Given the description of an element on the screen output the (x, y) to click on. 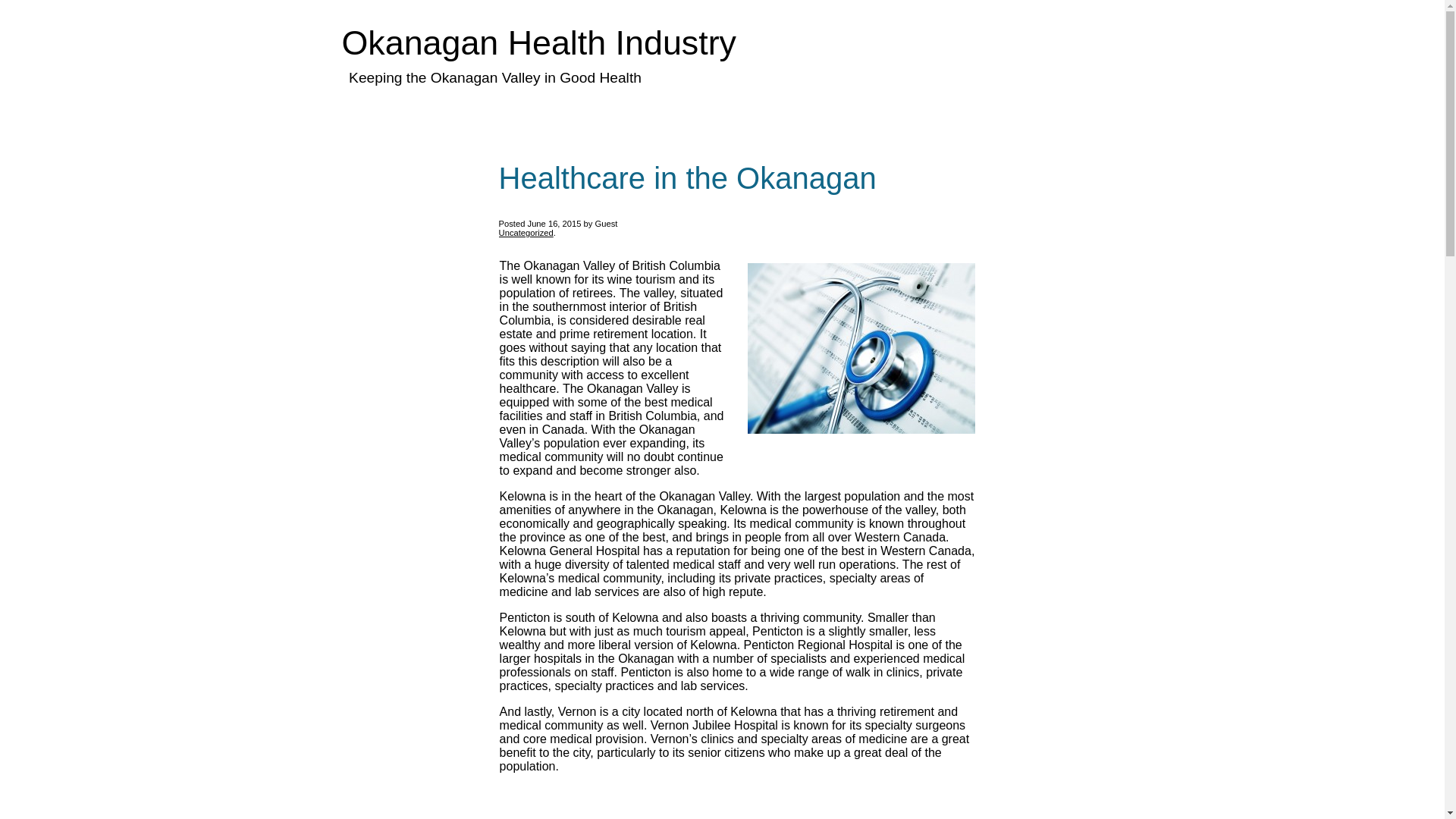
Uncategorized (526, 232)
Okanagan Health Industry (537, 42)
